Given the description of an element on the screen output the (x, y) to click on. 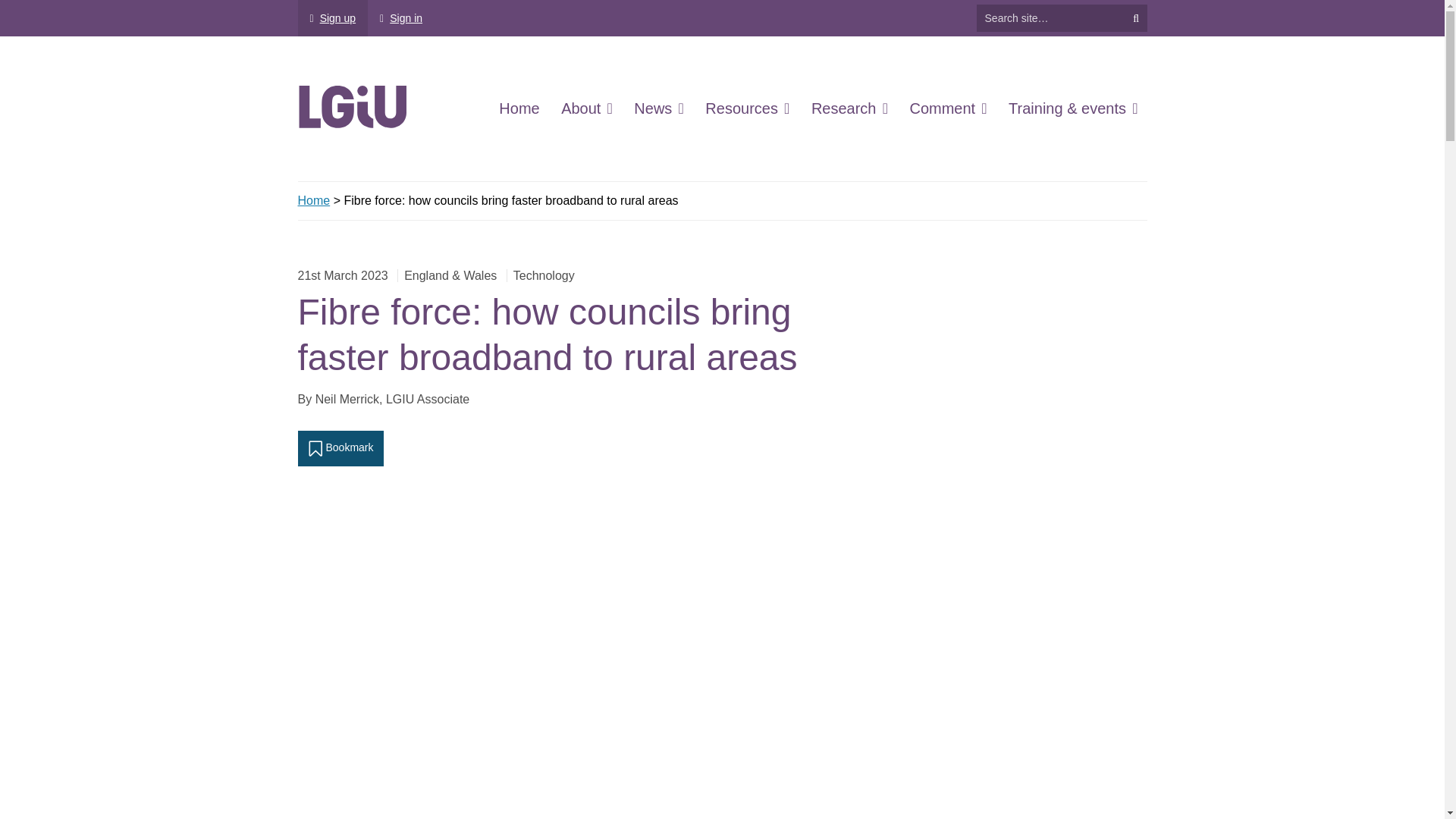
Sign in (400, 18)
Research (849, 107)
Sign up (332, 18)
Bookmark This (339, 448)
News (658, 107)
Home (518, 107)
About (586, 107)
Comment (947, 107)
Go to LGiU. (313, 200)
Resources (746, 107)
Search for: (1050, 18)
